Given the description of an element on the screen output the (x, y) to click on. 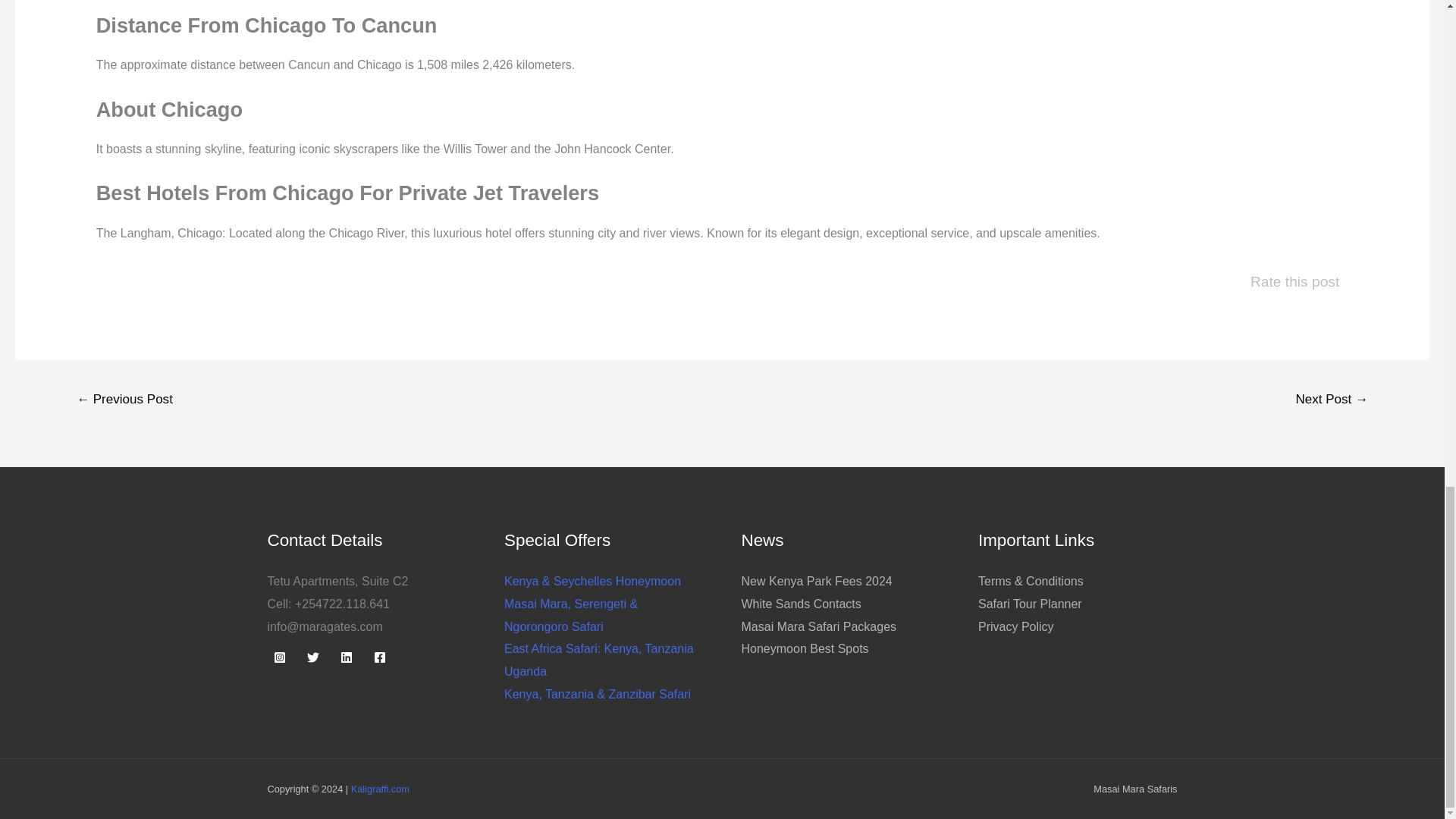
New Kenya Park Fees 2024 (816, 581)
Masai Mara Safari Packages (818, 626)
Kaligraffi.com (379, 788)
White Sands Contacts (801, 603)
East Africa Safari: Kenya, Tanzania Uganda (598, 660)
Privacy Policy (1016, 626)
Honeymoon Best Spots (805, 648)
Safari Tour Planner (1029, 603)
